Given the description of an element on the screen output the (x, y) to click on. 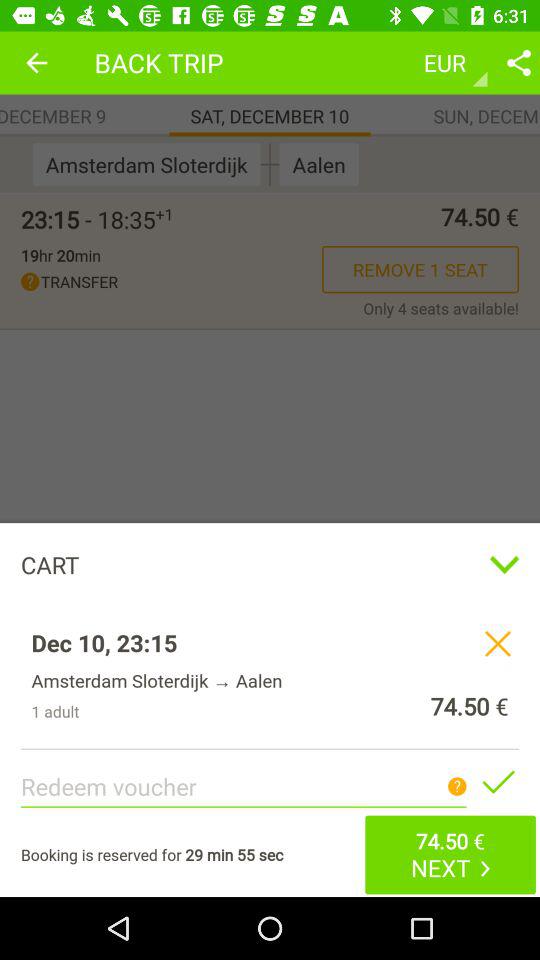
select the icon next to remove 1 seat icon (171, 281)
